Given the description of an element on the screen output the (x, y) to click on. 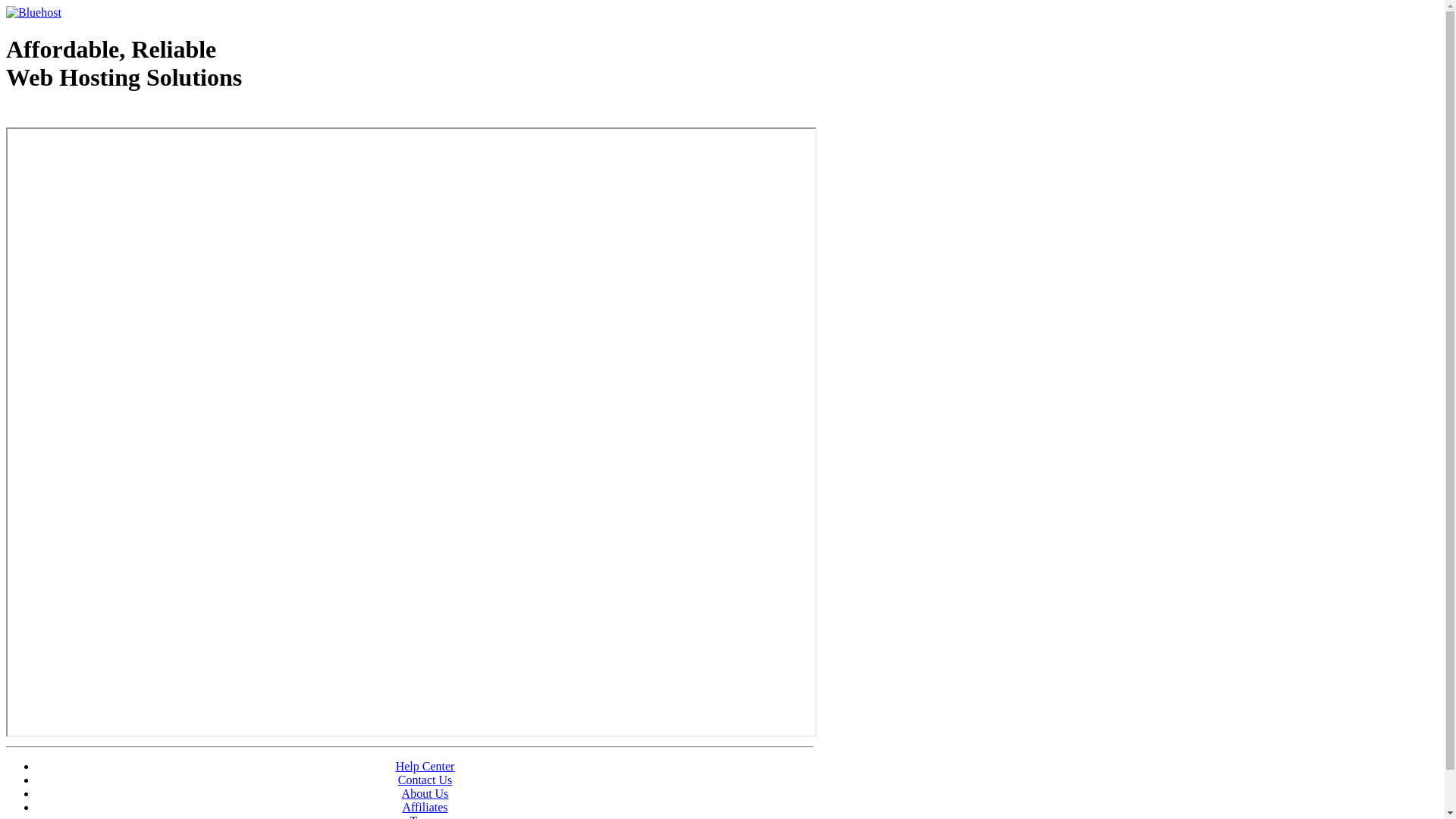
Contact Us Element type: text (425, 779)
Help Center Element type: text (425, 765)
Affiliates Element type: text (424, 806)
About Us Element type: text (424, 793)
Web Hosting - courtesy of www.bluehost.com Element type: text (94, 115)
